Given the description of an element on the screen output the (x, y) to click on. 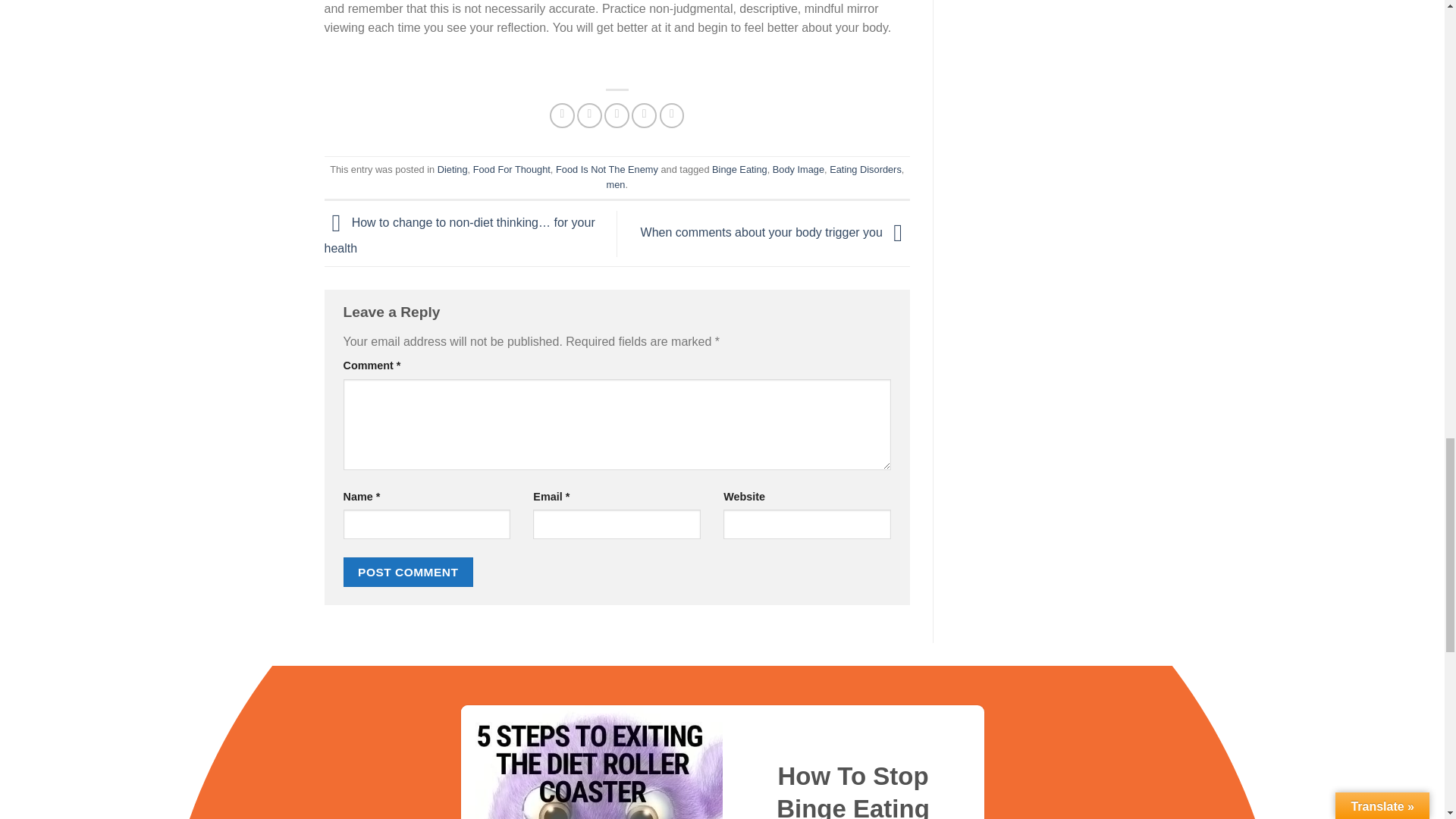
Post Comment (407, 572)
